Given the description of an element on the screen output the (x, y) to click on. 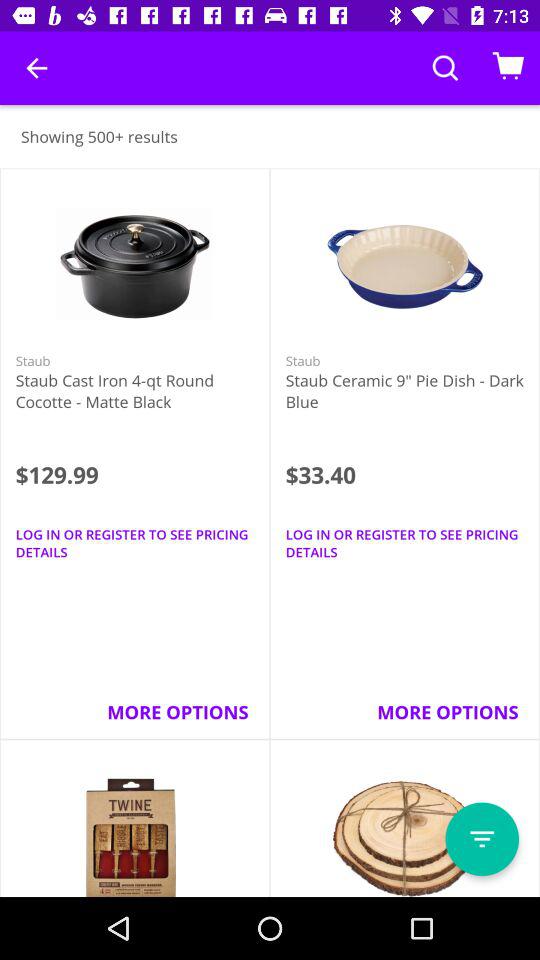
choose the item below the more options icon (482, 839)
